Given the description of an element on the screen output the (x, y) to click on. 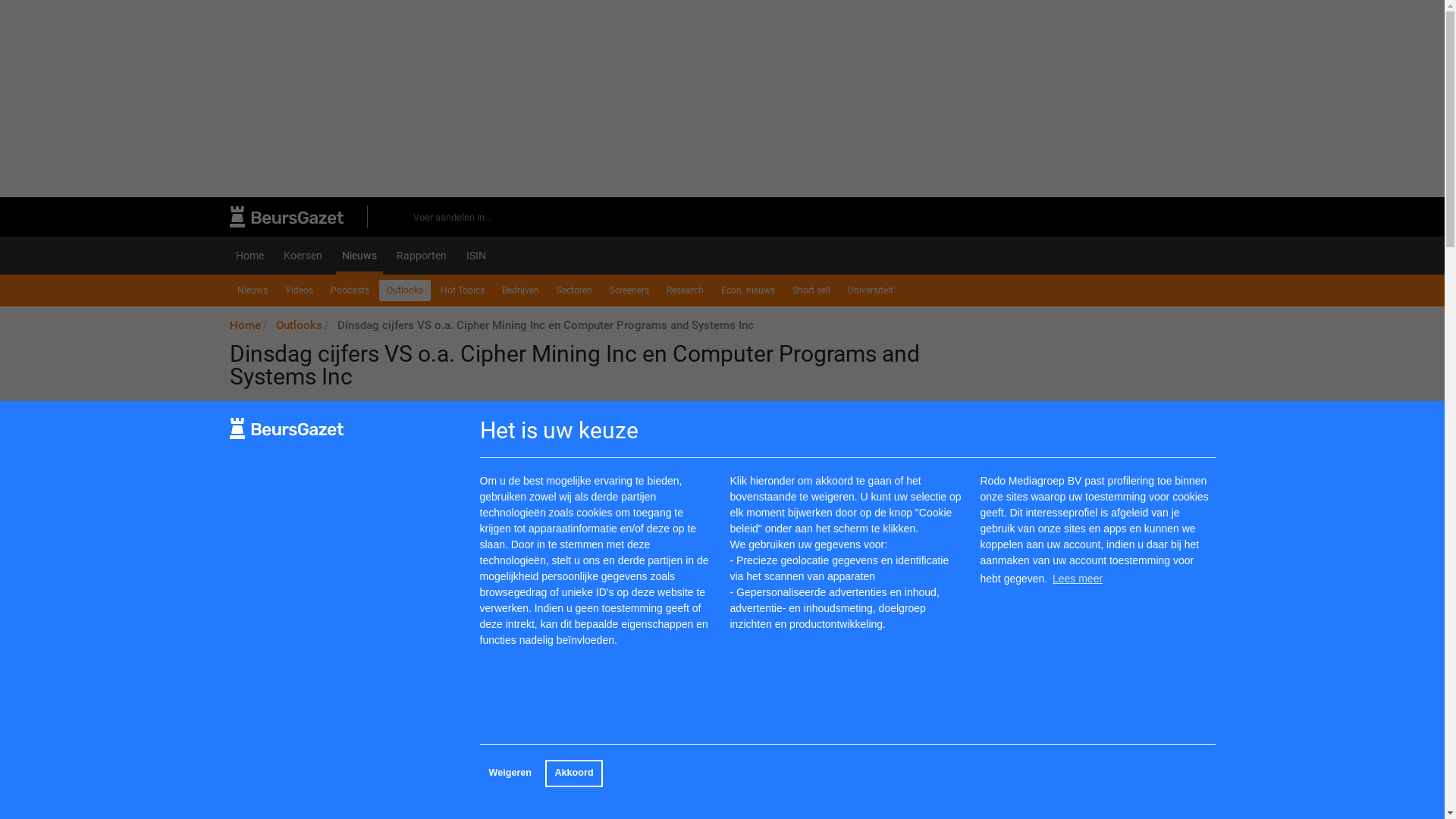
Acadia Realty Trust Element type: text (294, 564)
Outlooks Element type: text (404, 290)
AssetMark Financial Holdings Inc Element type: text (330, 797)
Albany International Element type: text (295, 647)
Podcasts Element type: text (349, 290)
Home Element type: text (249, 255)
Videos Element type: text (298, 290)
Rapporten Element type: text (420, 255)
Nieuws Element type: text (358, 255)
Lees meer Element type: text (1077, 578)
Research Element type: text (684, 290)
Ares Commercial Real Estate Element type: text (320, 730)
Hot Topics Element type: text (461, 290)
Adaptive Biotechnologies Corp Element type: text (323, 597)
Universiteit Element type: text (870, 290)
Home Element type: text (244, 325)
Outlooks Element type: text (299, 325)
Short sell Element type: text (810, 290)
Bedrijven Element type: text (520, 290)
Screeners Element type: text (629, 290)
ISIN Element type: text (475, 255)
Koersen Element type: text (302, 255)
Econ. nieuws Element type: text (746, 290)
Asbury Automotive Group Element type: text (310, 780)
Nieuws Element type: text (251, 290)
Akkoord Element type: text (573, 772)
Akamai Element type: text (264, 630)
Weigeren Element type: text (509, 772)
Sectoren Element type: text (574, 290)
